Given the description of an element on the screen output the (x, y) to click on. 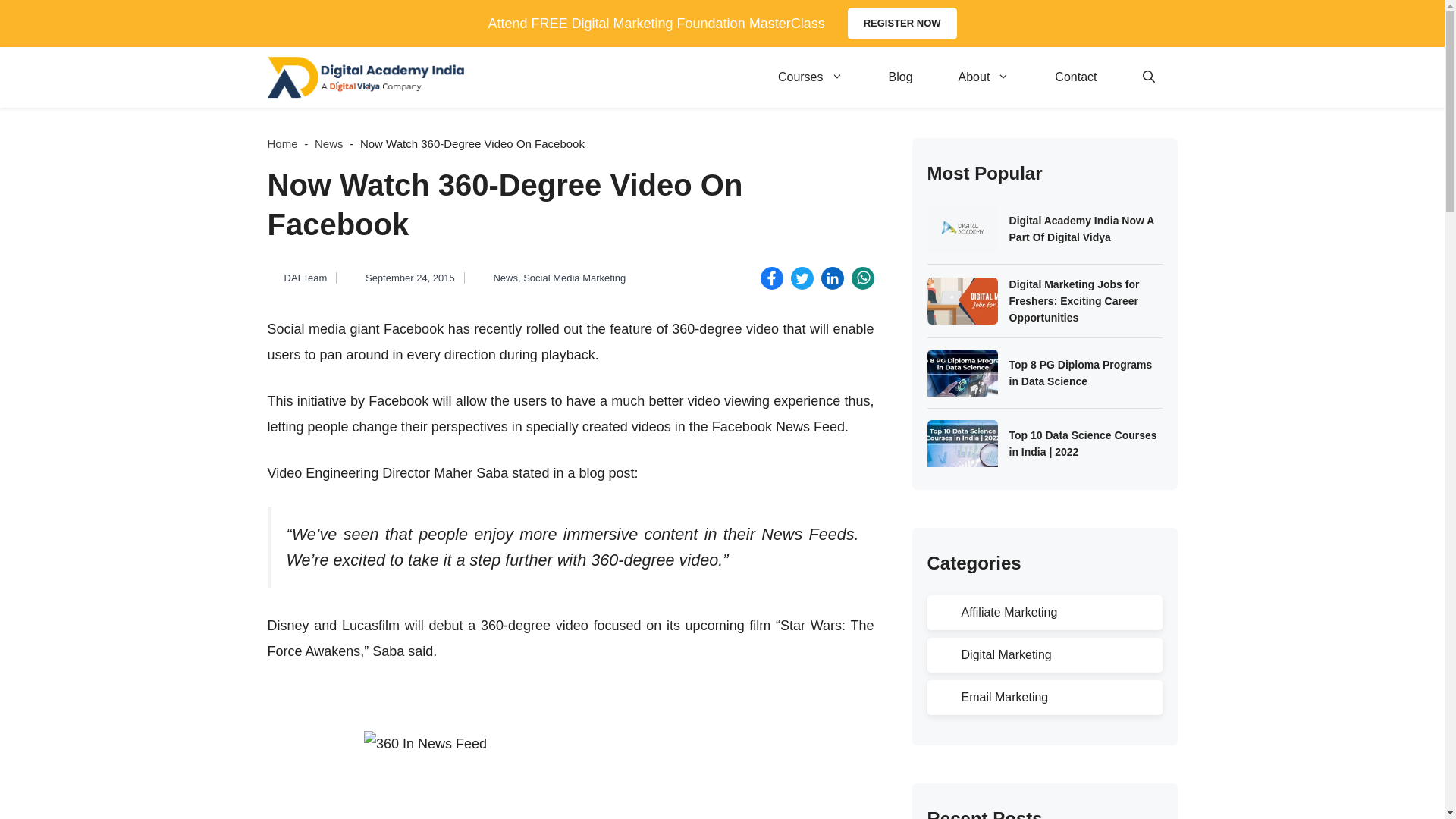
About (984, 76)
Digital Academy India Now A Part Of Digital Vidya (1085, 228)
Courses (810, 76)
Home (281, 143)
Top 8 PG Diploma Programs in Data Science (1085, 372)
Top 8 PG Diploma Programs in Data Science (1085, 372)
Posts by DAI Team (304, 277)
Social Media Marketing (574, 277)
REGISTER NOW (901, 23)
